Given the description of an element on the screen output the (x, y) to click on. 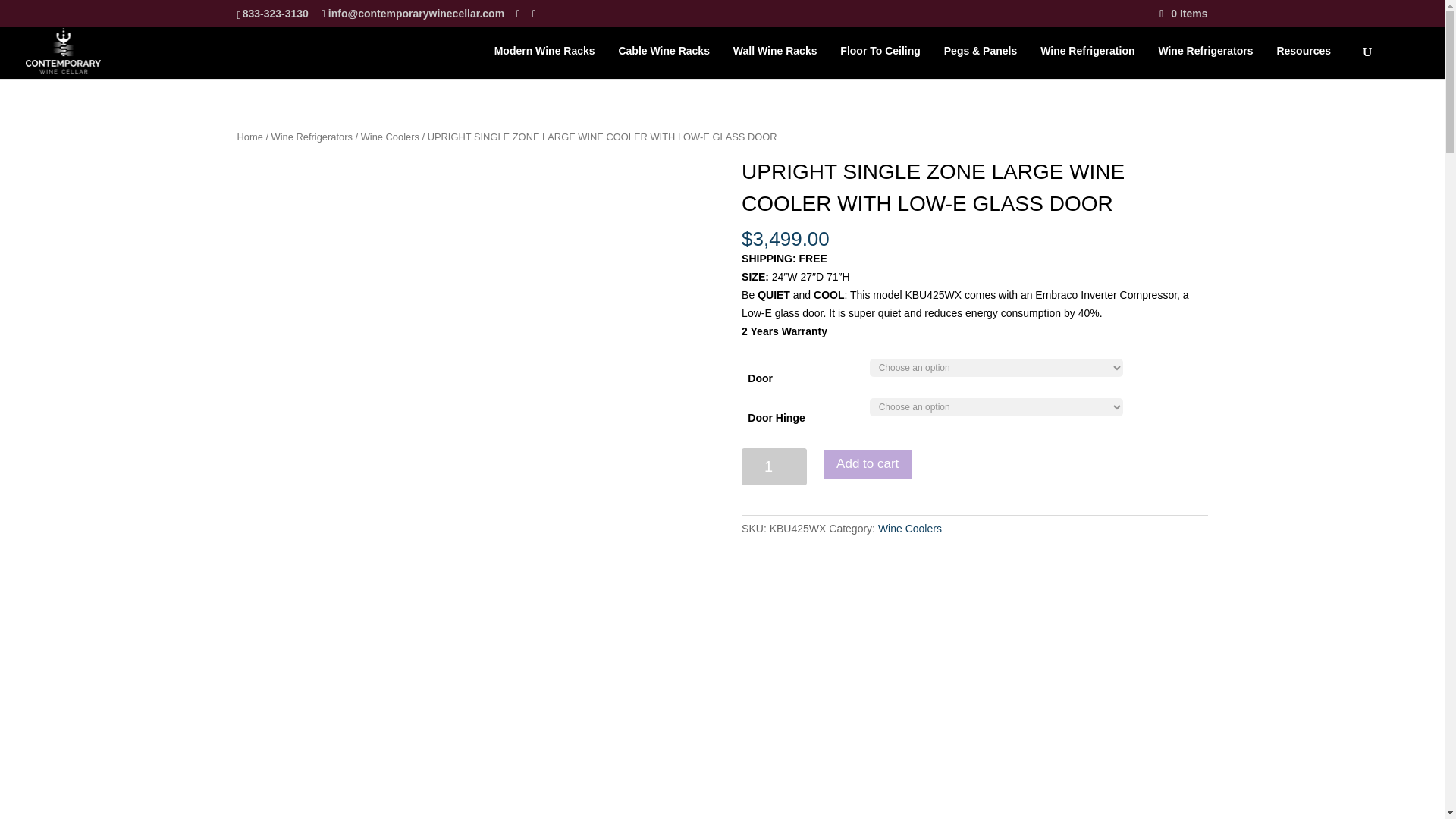
0 Items (1182, 13)
1 (773, 466)
Cable Wine Racks (670, 61)
Wall Wine Racks (782, 61)
Floor To Ceiling (888, 61)
Modern Wine Racks (552, 61)
